Given the description of an element on the screen output the (x, y) to click on. 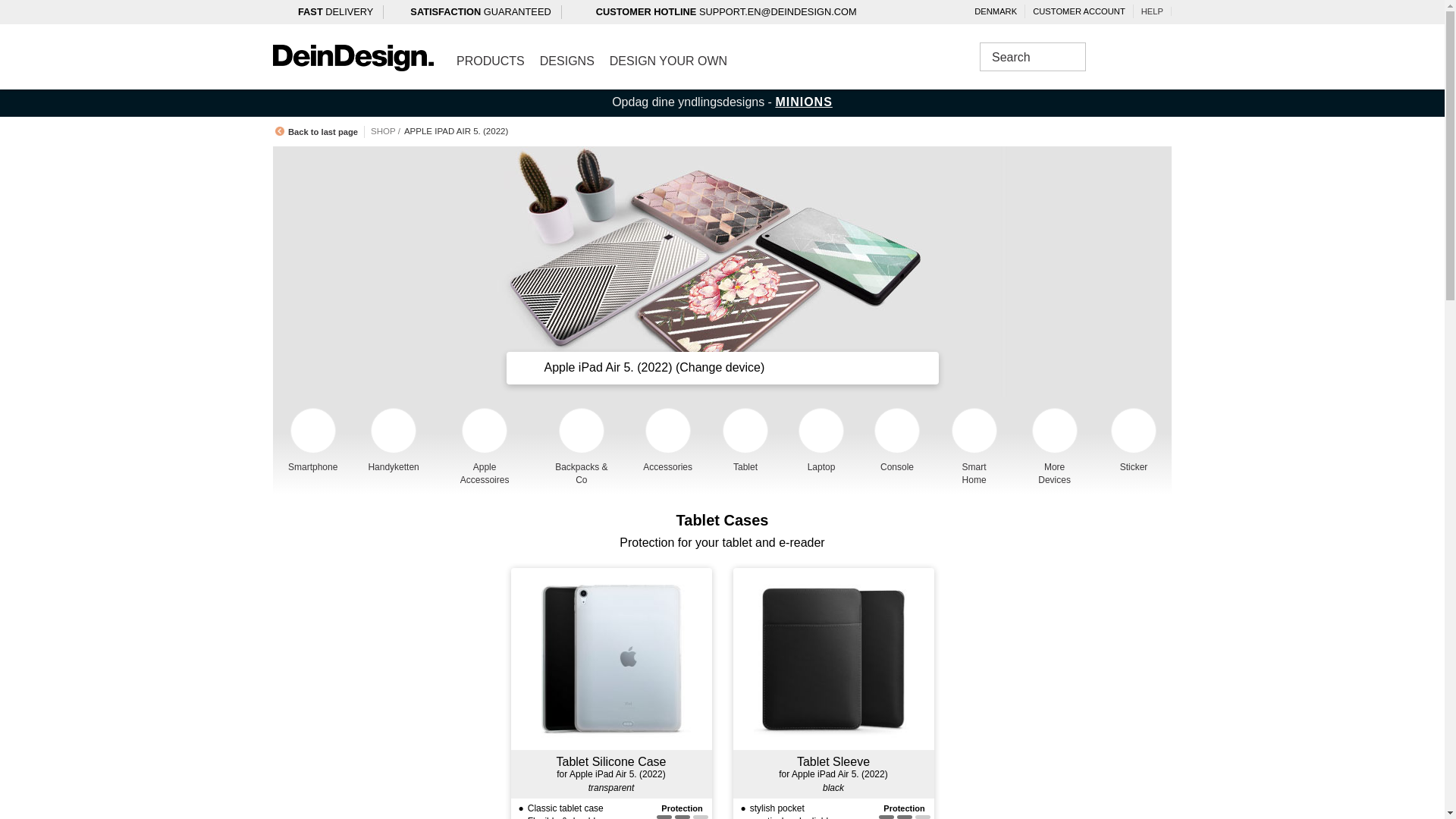
SATISFACTION GUARANTEED (481, 13)
Help (1153, 10)
HELP (1153, 10)
PRODUCTS (490, 61)
CUSTOMER ACCOUNT (1079, 11)
FAST DELIVERY (333, 13)
DENMARK (995, 11)
